Given the description of an element on the screen output the (x, y) to click on. 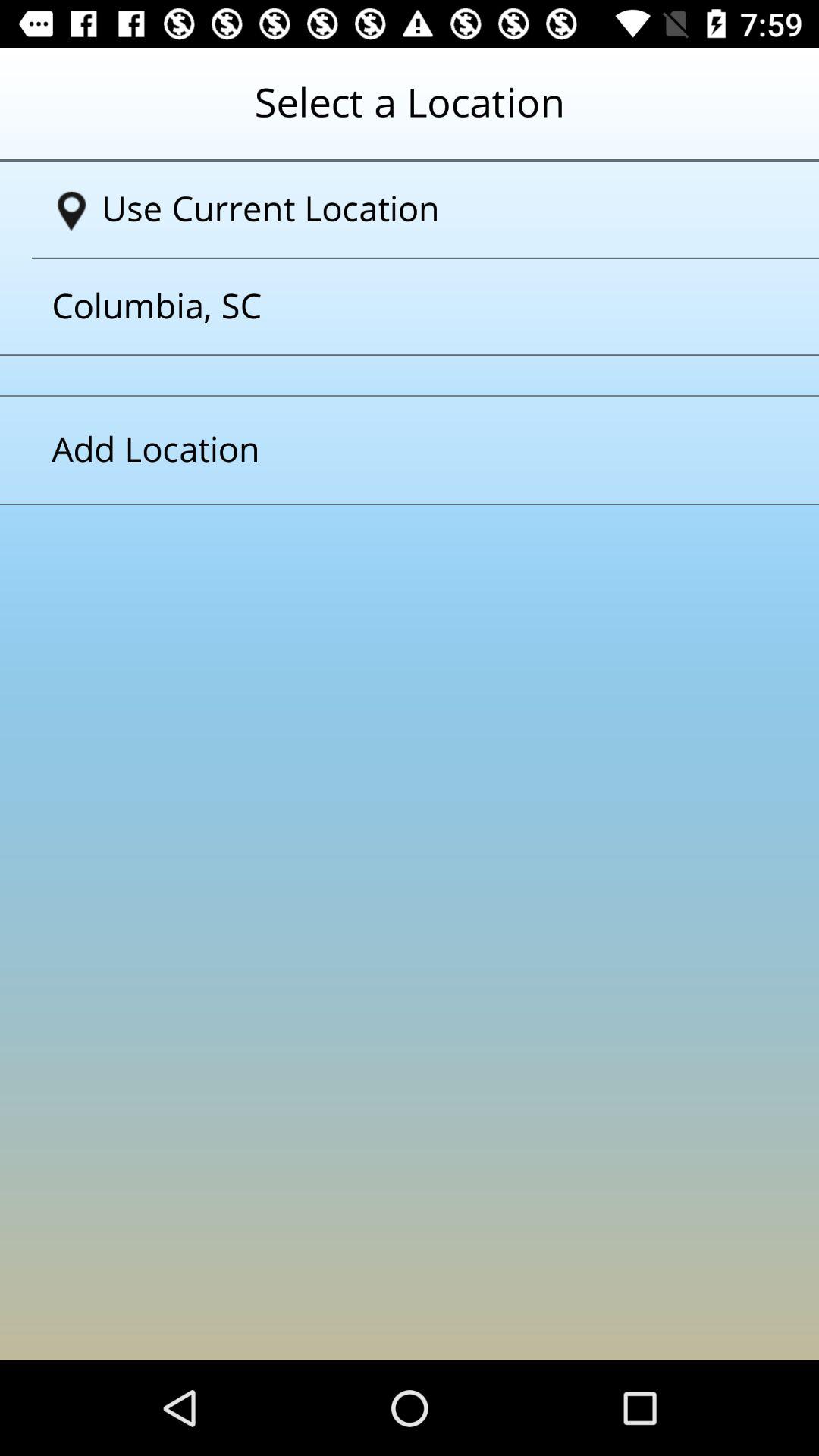
select the text which is on the top of the screen (409, 114)
click on text below the text select a location (415, 209)
click on columbiasc which is below the text use current location (390, 307)
